Given the description of an element on the screen output the (x, y) to click on. 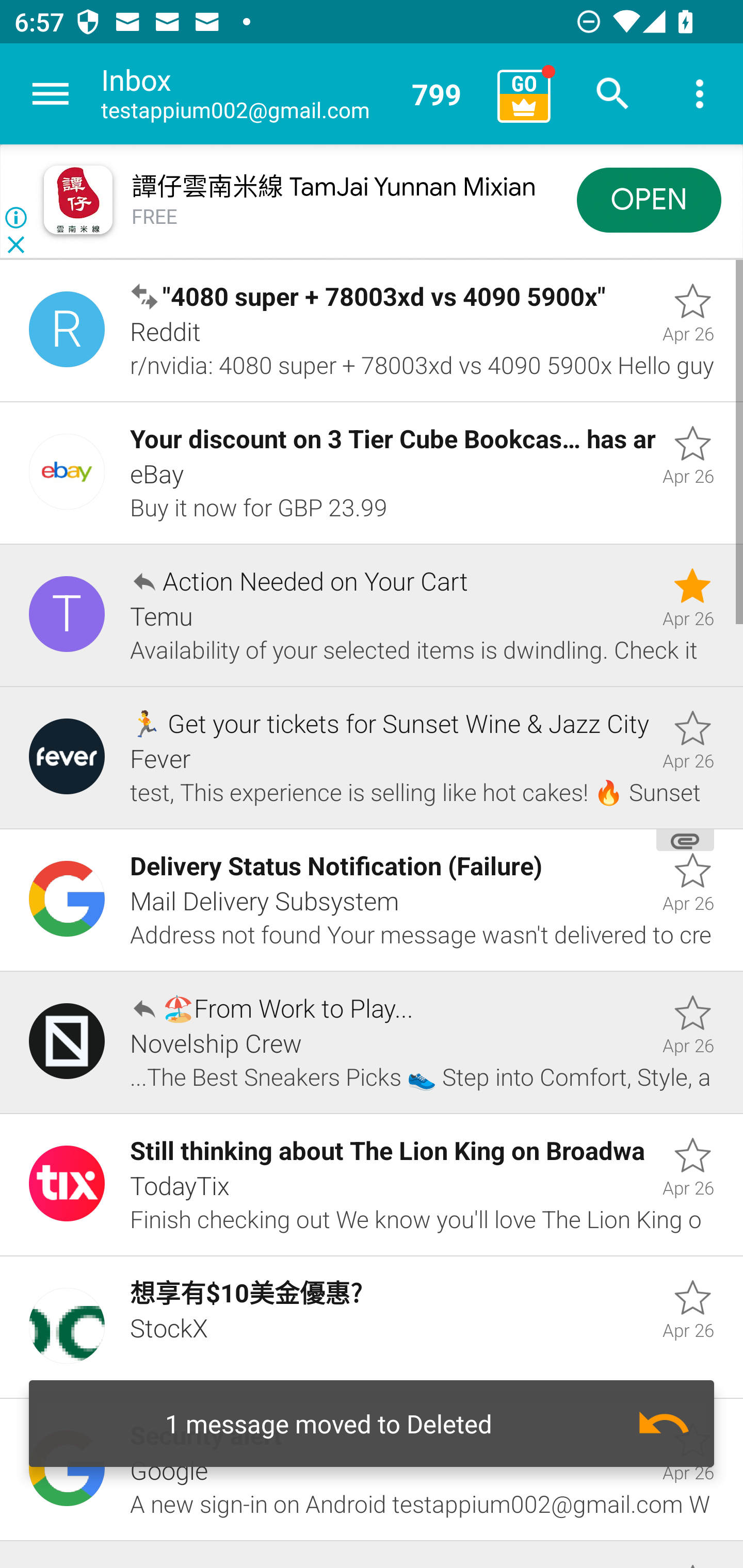
Navigate up (50, 93)
Inbox testappium002@gmail.com 799 (291, 93)
Search (612, 93)
More options (699, 93)
Unread, 想享有$10美金優惠?, StockX, Apr 26 (371, 1326)
Undo 1 message moved to Deleted (371, 1423)
